Given the description of an element on the screen output the (x, y) to click on. 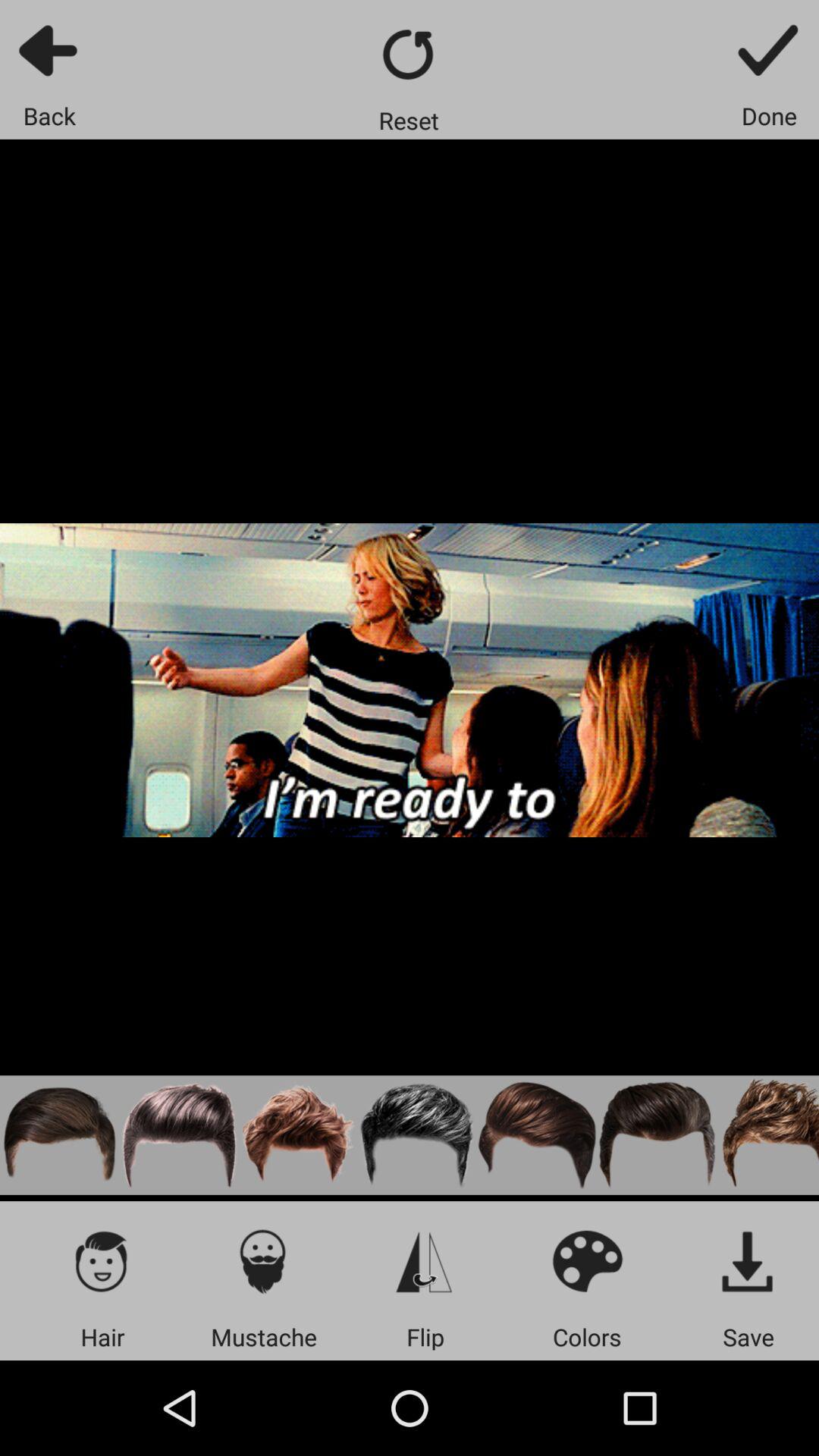
select this hair style (537, 1134)
